Given the description of an element on the screen output the (x, y) to click on. 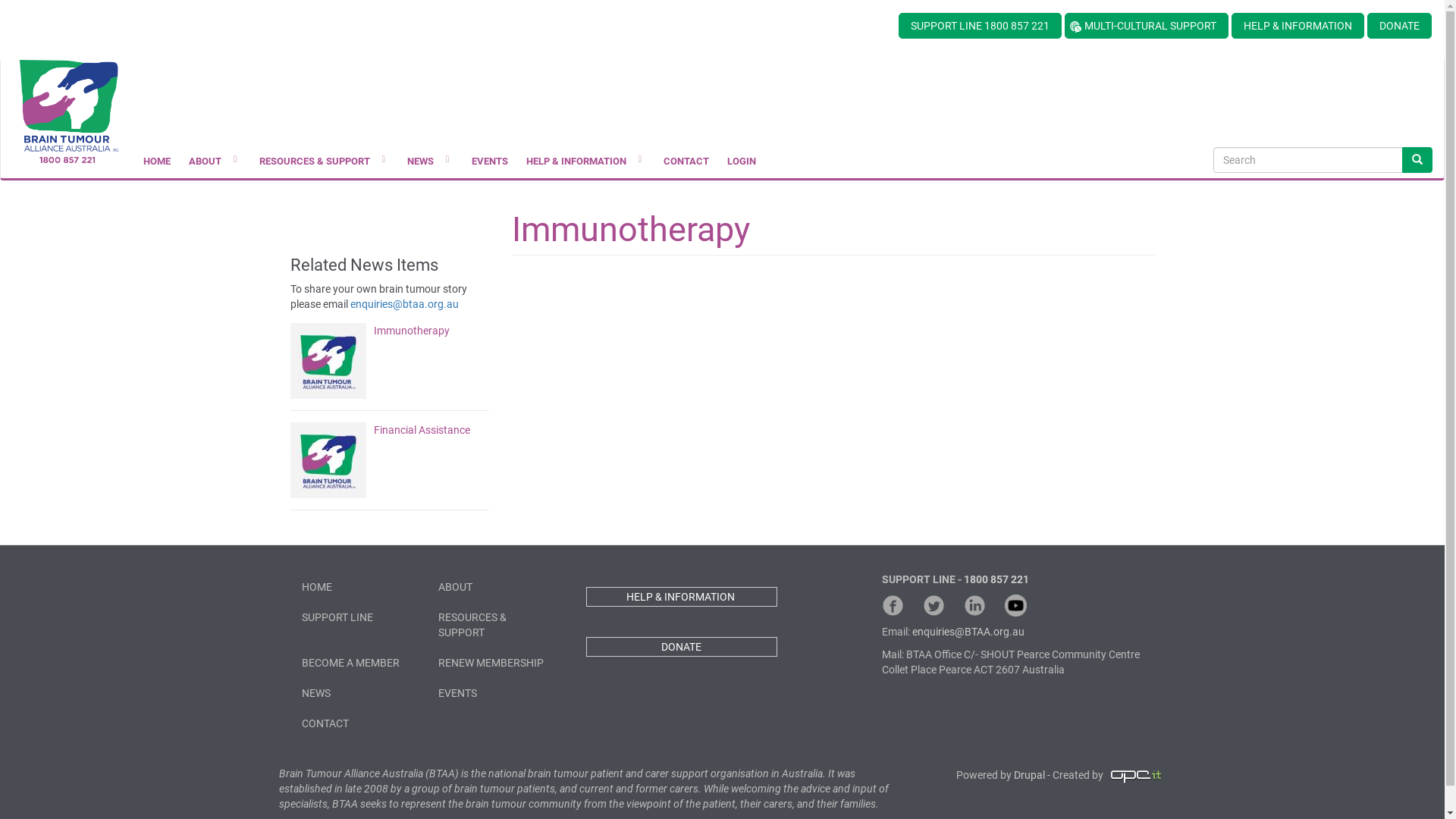
Search Element type: text (1417, 159)
ABOUT Element type: text (494, 586)
HOME Element type: text (357, 586)
YouTube Element type: text (1015, 605)
HELP & INFORMATION Element type: text (1297, 25)
enquiries@btaa.org.au Element type: text (404, 304)
LinkedIn Element type: text (974, 605)
DONATE Element type: text (1399, 25)
Twitter Element type: text (933, 605)
HELP & INFORMATION  Element type: text (680, 596)
Financial Assistance Element type: text (389, 429)
EVENTS Element type: text (489, 161)
RENEW MEMBERSHIP Element type: text (494, 662)
LOGIN Element type: text (741, 161)
HOME Element type: text (156, 161)
SUPPORT LINE 1800 857 221 Element type: text (979, 25)
Immunotherapy Element type: text (389, 330)
RESOURCES & SUPPORT Element type: text (494, 624)
CONTACT Element type: text (357, 723)
CONTACT Element type: text (686, 161)
MULTI-CULTURAL SUPPORT Element type: text (1146, 25)
EVENTS Element type: text (494, 692)
1800 857 221 Element type: text (995, 579)
BECOME A MEMBER Element type: text (357, 662)
Drupal Element type: text (1028, 774)
DONATE Element type: text (680, 646)
SUPPORT LINE Element type: text (357, 617)
enquiries@BTAA.org.au Element type: text (967, 631)
Skip to main content Element type: text (0, 11)
NEWS Element type: text (357, 692)
Facebook Element type: text (892, 605)
